Given the description of an element on the screen output the (x, y) to click on. 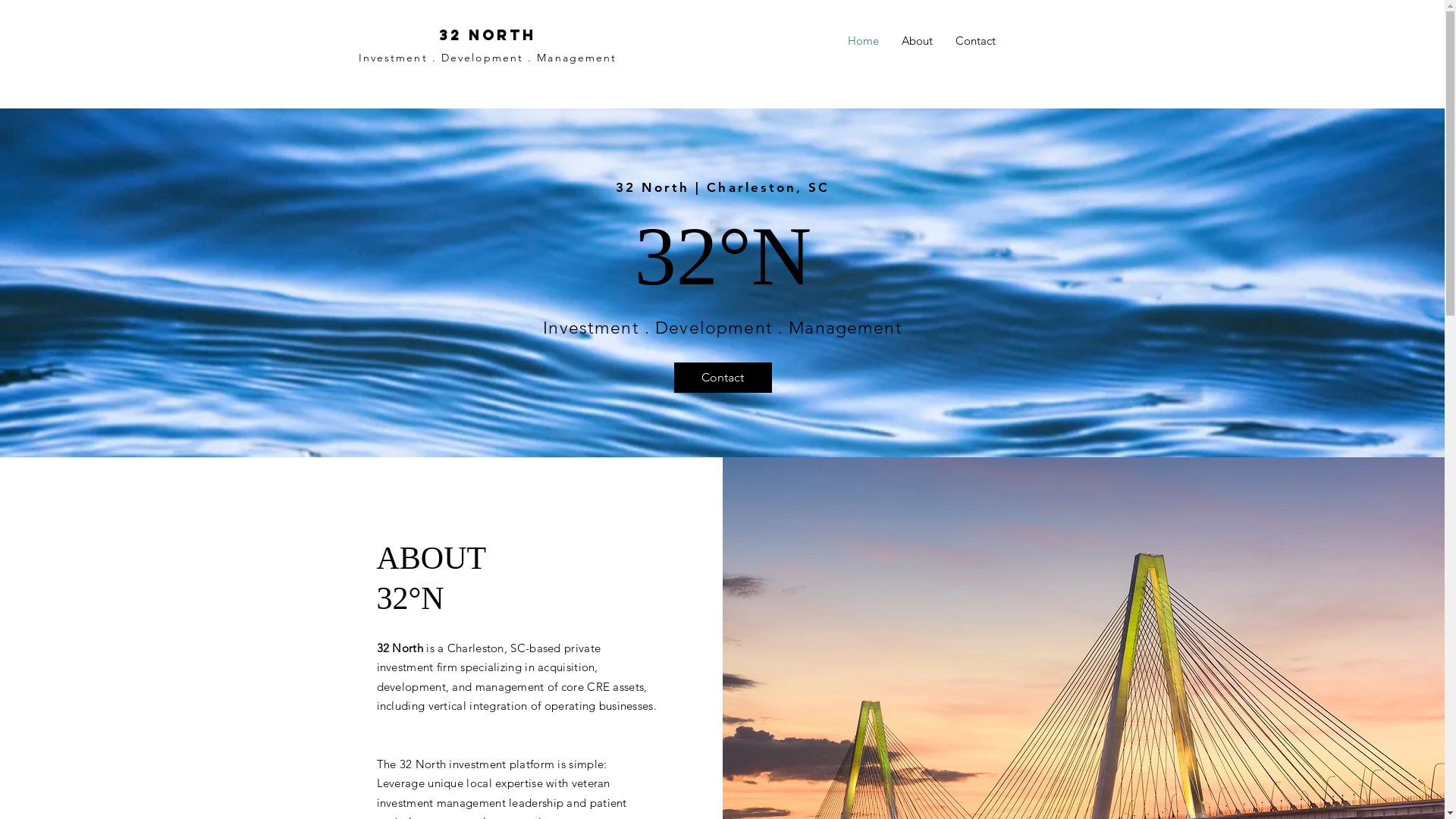
Investment . Development . Management Element type: text (487, 57)
32 North Element type: text (486, 34)
Contact Element type: text (722, 377)
About Element type: text (917, 40)
Contact Element type: text (974, 40)
Home Element type: text (862, 40)
